Given the description of an element on the screen output the (x, y) to click on. 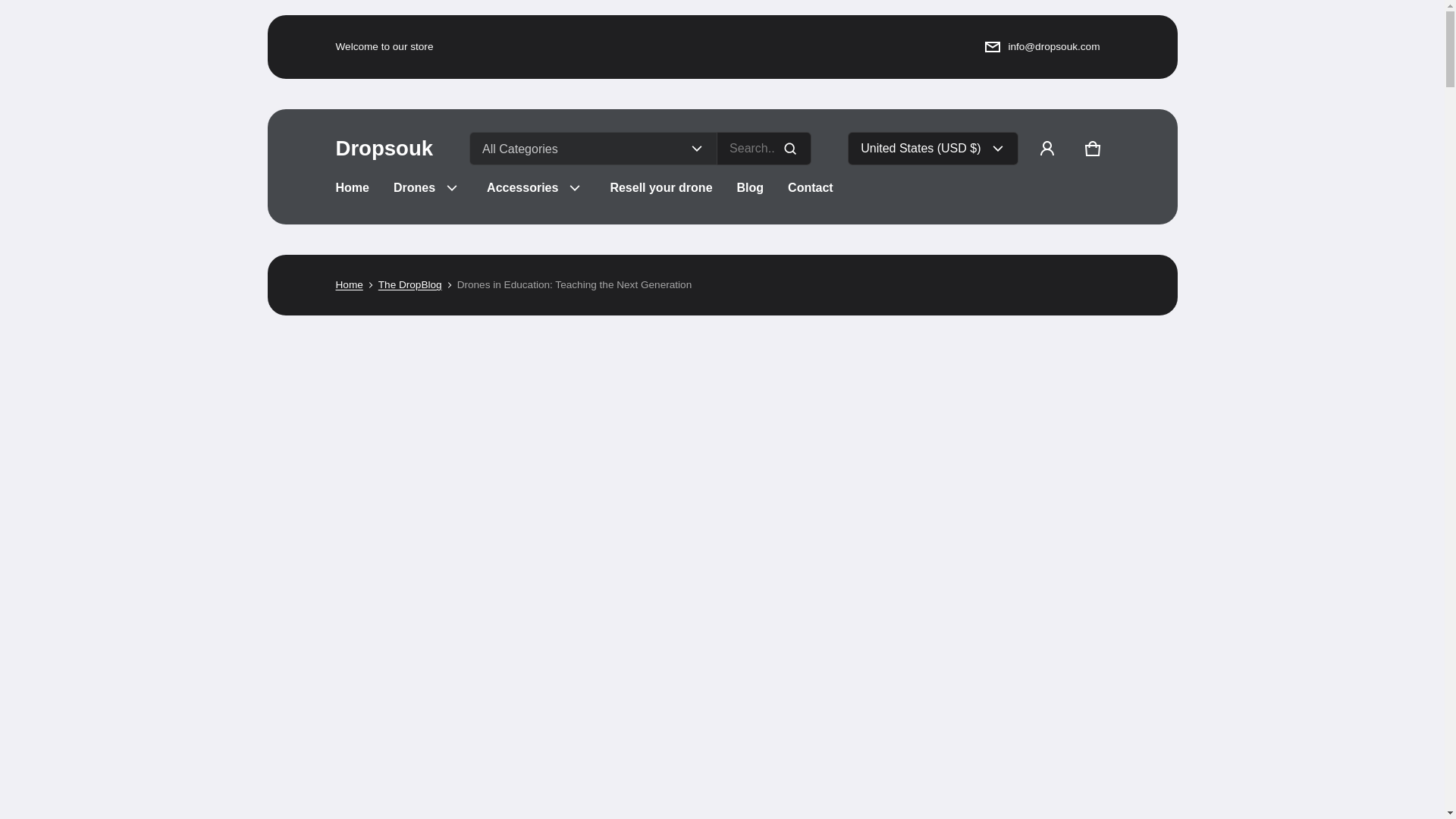
Blog (750, 187)
Home (351, 187)
Home (348, 284)
The DropBlog (410, 284)
Resell your drone (659, 187)
Dropsouk (383, 148)
Contact (810, 187)
